Given the description of an element on the screen output the (x, y) to click on. 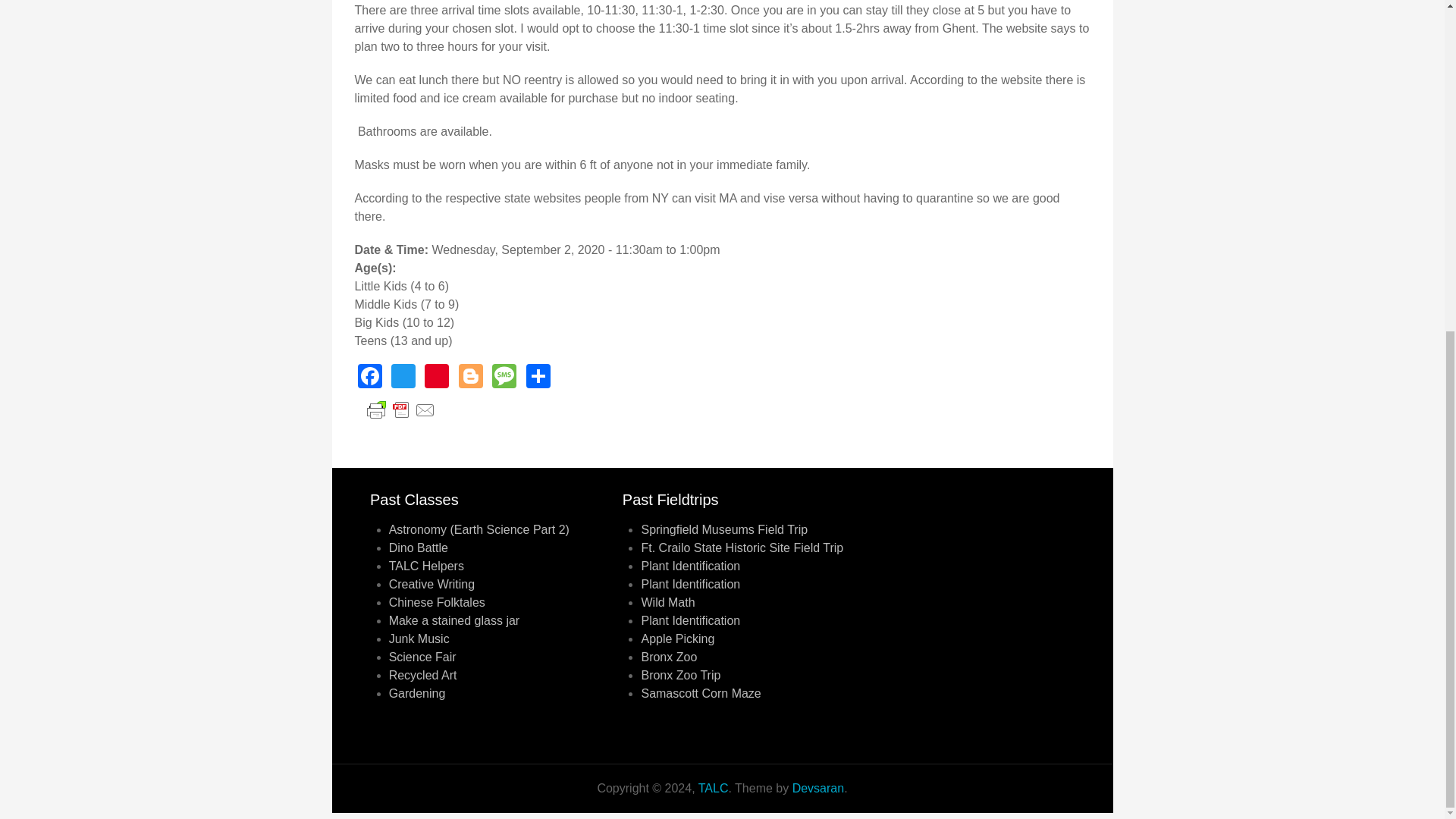
Wild Math (667, 602)
Devsaran (818, 788)
Plant Identification (689, 565)
Plant Identification (689, 584)
Ft. Crailo State Historic Site Field Trip (741, 547)
Message (504, 375)
Samascott Corn Maze (700, 693)
Chinese Folktales (436, 602)
Recycled Art (422, 675)
Twitter (403, 375)
Facebook (370, 375)
Dino Battle (418, 547)
Science Fair (422, 656)
Gardening (416, 693)
Apple Picking (677, 638)
